Given the description of an element on the screen output the (x, y) to click on. 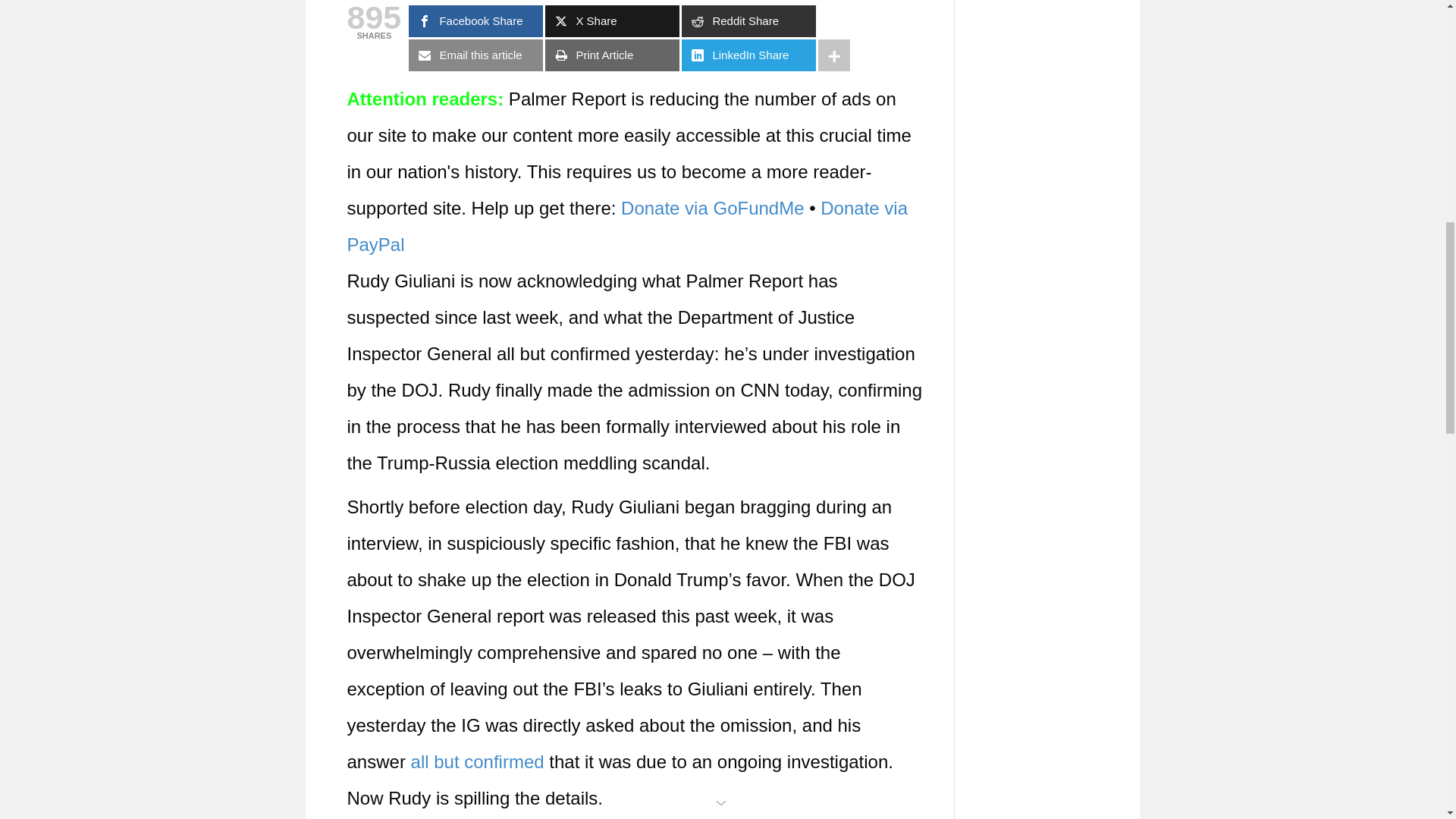
Reddit Share (748, 20)
Donate via GoFundMe (712, 208)
LinkedIn Share (748, 55)
X Share (611, 20)
Facebook Share (476, 20)
all but confirmed (477, 761)
Print Article (611, 55)
Donate via PayPal (627, 226)
Email this article (476, 55)
